Given the description of an element on the screen output the (x, y) to click on. 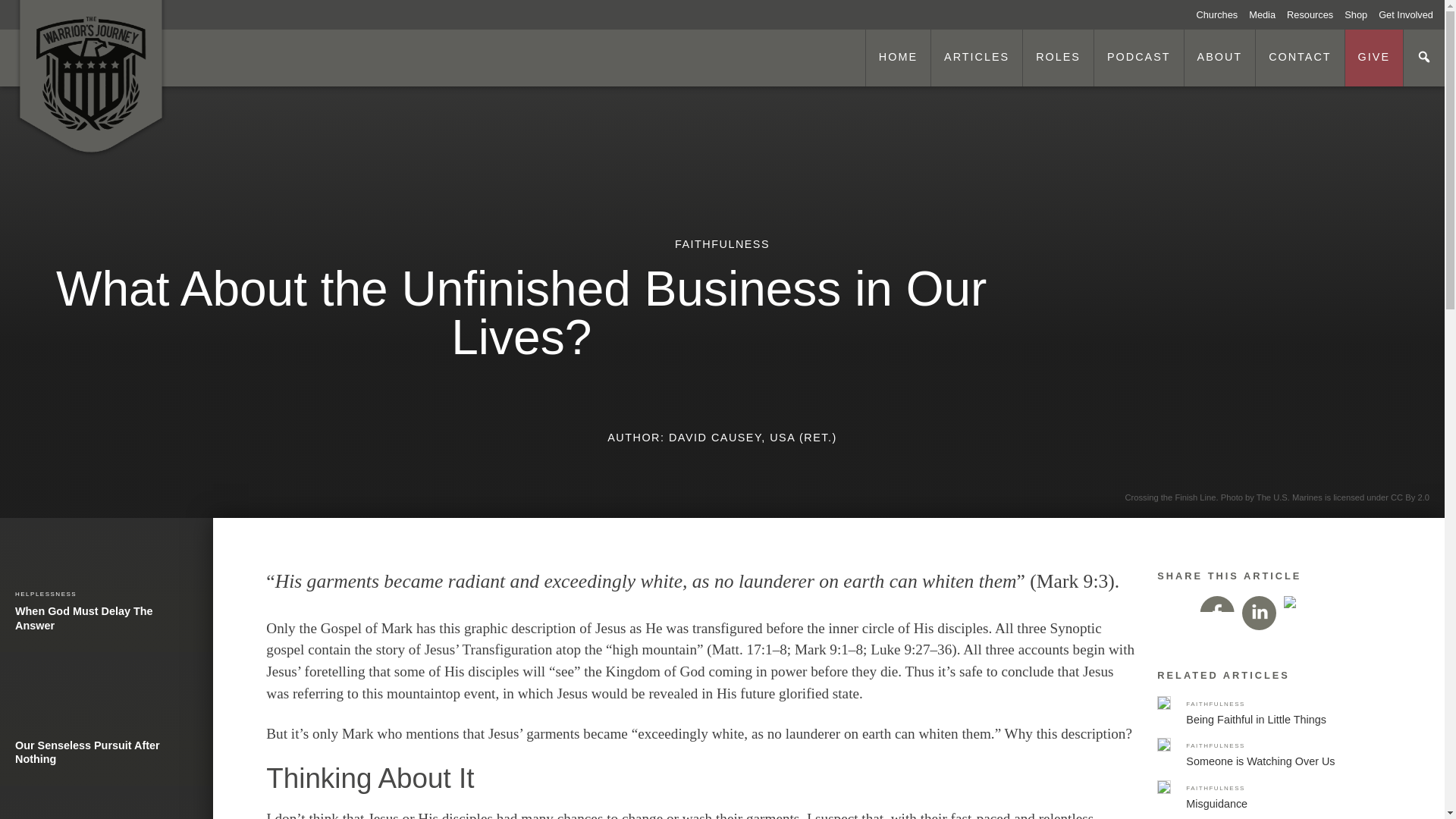
PODCAST (1138, 57)
Shop (1360, 14)
ARTICLES (976, 57)
Resources (1315, 14)
Media (106, 802)
Churches (1268, 14)
GIVE (1222, 14)
ABOUT (1373, 57)
HOME (1219, 57)
  Our Senseless Pursuit After Nothing (897, 57)
CONTACT (106, 718)
ROLES (106, 584)
